Given the description of an element on the screen output the (x, y) to click on. 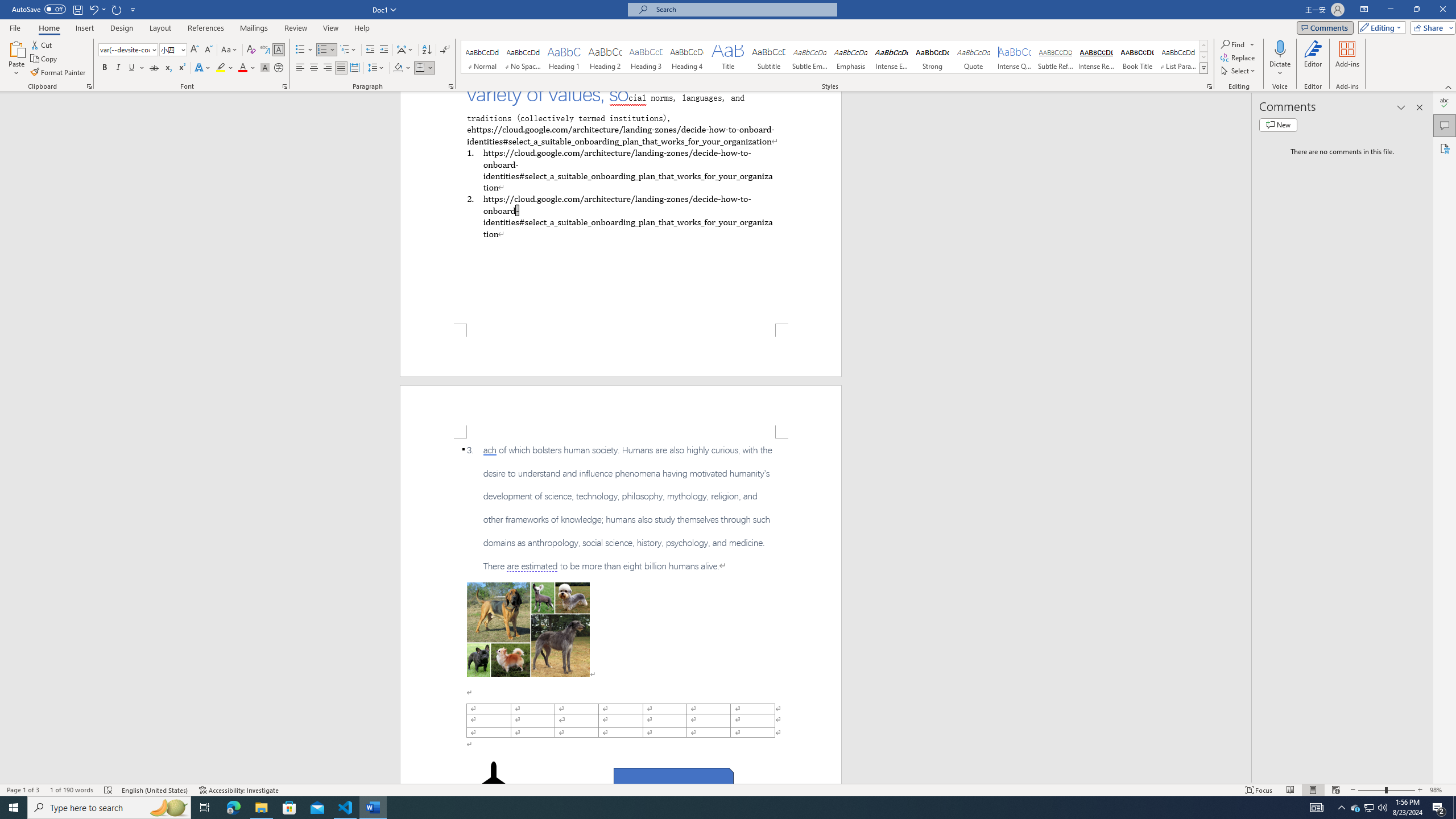
Superscript (180, 67)
Shading RGB(0, 0, 0) (397, 67)
Font Size (169, 49)
Title (727, 56)
Multilevel List (347, 49)
Emphasis (849, 56)
Microsoft search (742, 9)
Phonetic Guide... (264, 49)
Repeat Paragraph Alignment (117, 9)
Increase Indent (383, 49)
Paragraph... (450, 85)
Grow Font (193, 49)
System (6, 6)
Text Highlight Color Yellow (220, 67)
Clear Formatting (250, 49)
